Given the description of an element on the screen output the (x, y) to click on. 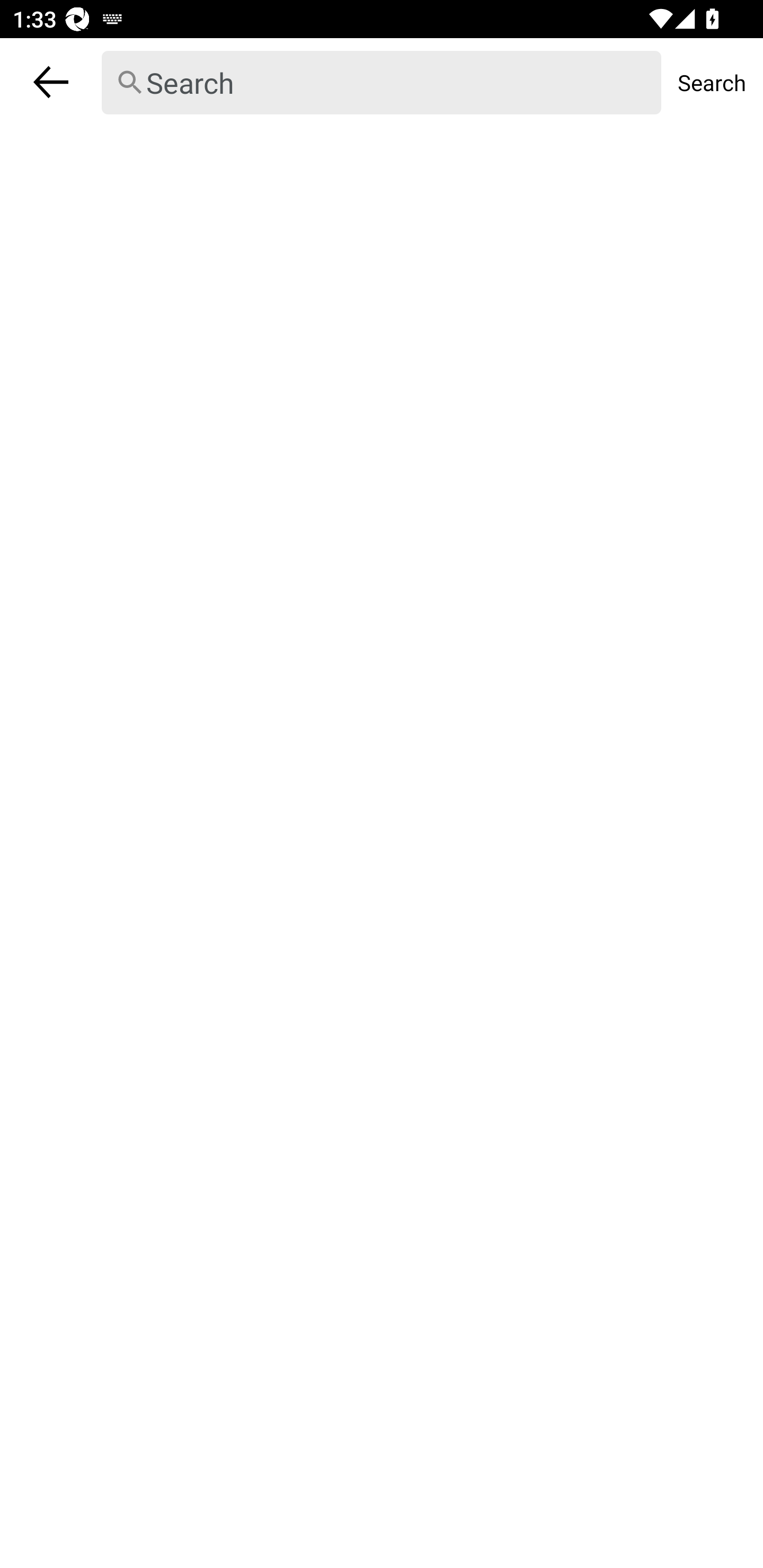
close (50, 81)
search Search (381, 82)
Search (381, 82)
Search (711, 82)
